Given the description of an element on the screen output the (x, y) to click on. 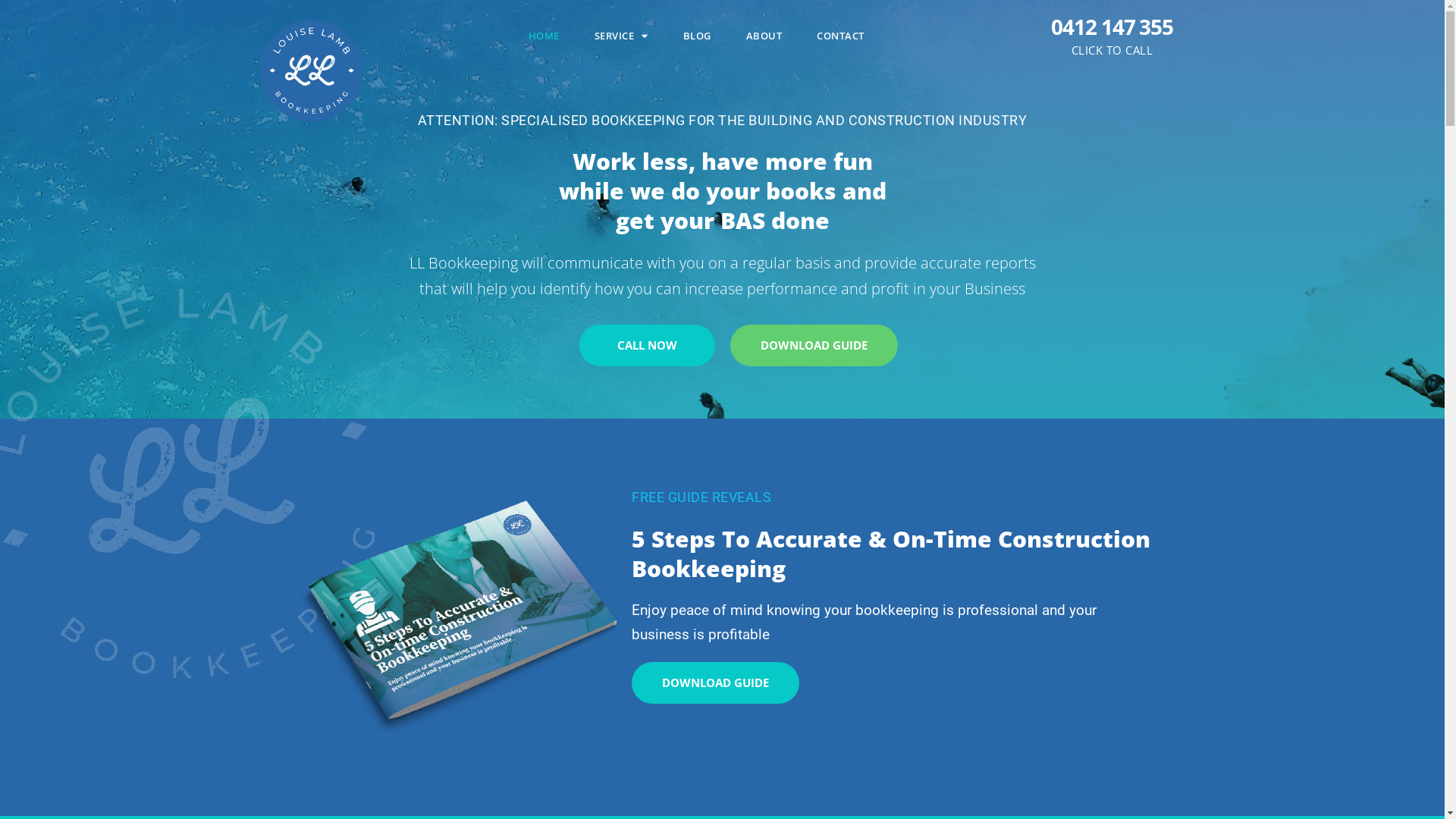
BLOG Element type: text (696, 35)
0412 147 355 Element type: text (1112, 26)
DOWNLOAD GUIDE Element type: text (715, 682)
CLICK TO CALL Element type: text (1112, 49)
DOWNLOAD GUIDE Element type: text (813, 345)
CALL NOW Element type: text (647, 345)
ABOUT Element type: text (764, 35)
SERVICE Element type: text (621, 35)
CONTACT Element type: text (840, 35)
HOME Element type: text (544, 35)
